Given the description of an element on the screen output the (x, y) to click on. 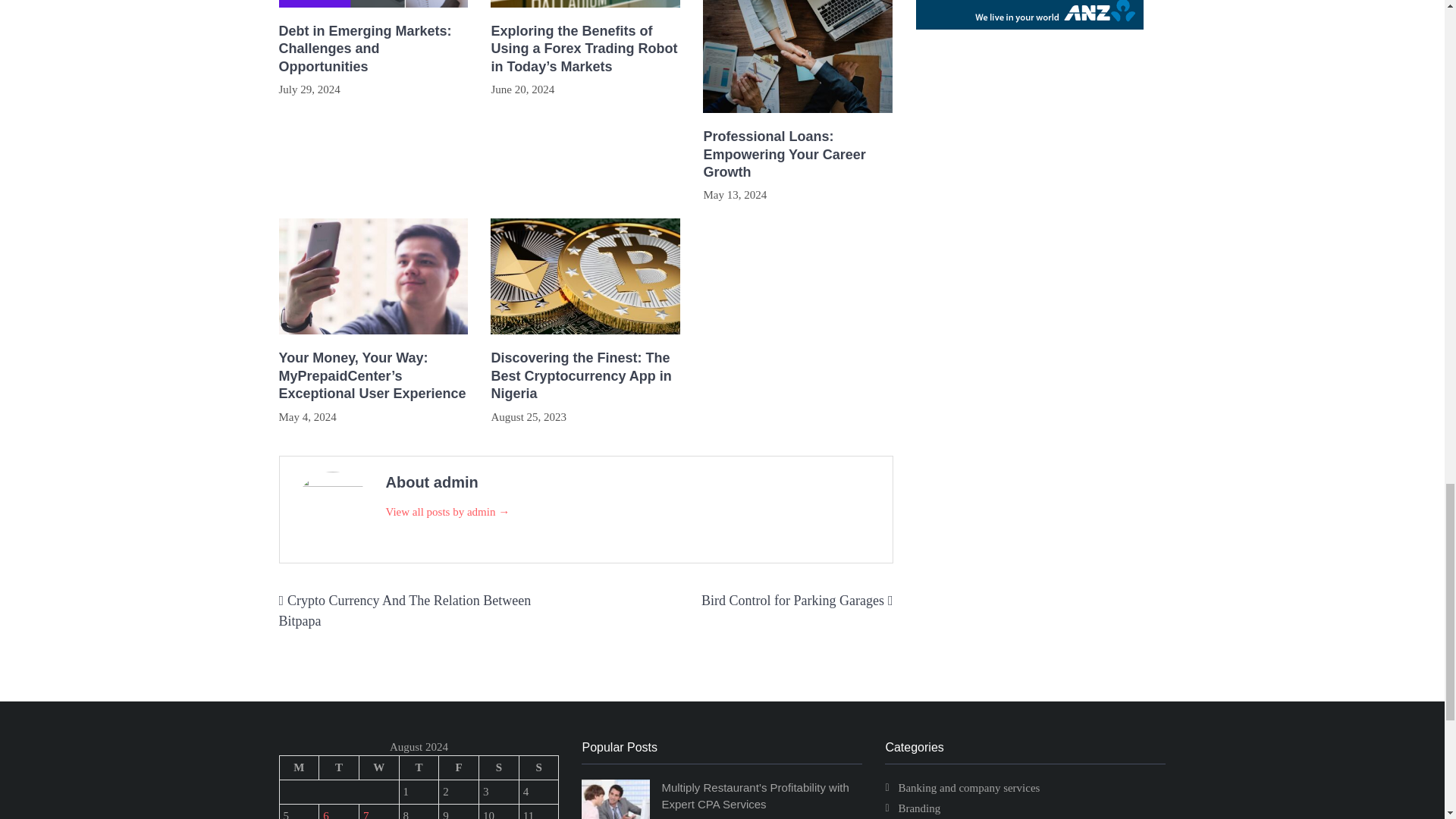
Tuesday (338, 767)
Saturday (499, 767)
Monday (298, 767)
Friday (459, 767)
Wednesday (378, 767)
Debt in Emerging Markets: Challenges and Opportunities (373, 49)
Professional Loans: Empowering Your Career Growth (797, 153)
Bird Control for Parking Garages (792, 600)
Sunday (538, 767)
Thursday (418, 767)
Crypto Currency And The Relation Between Bitpapa (405, 610)
